Given the description of an element on the screen output the (x, y) to click on. 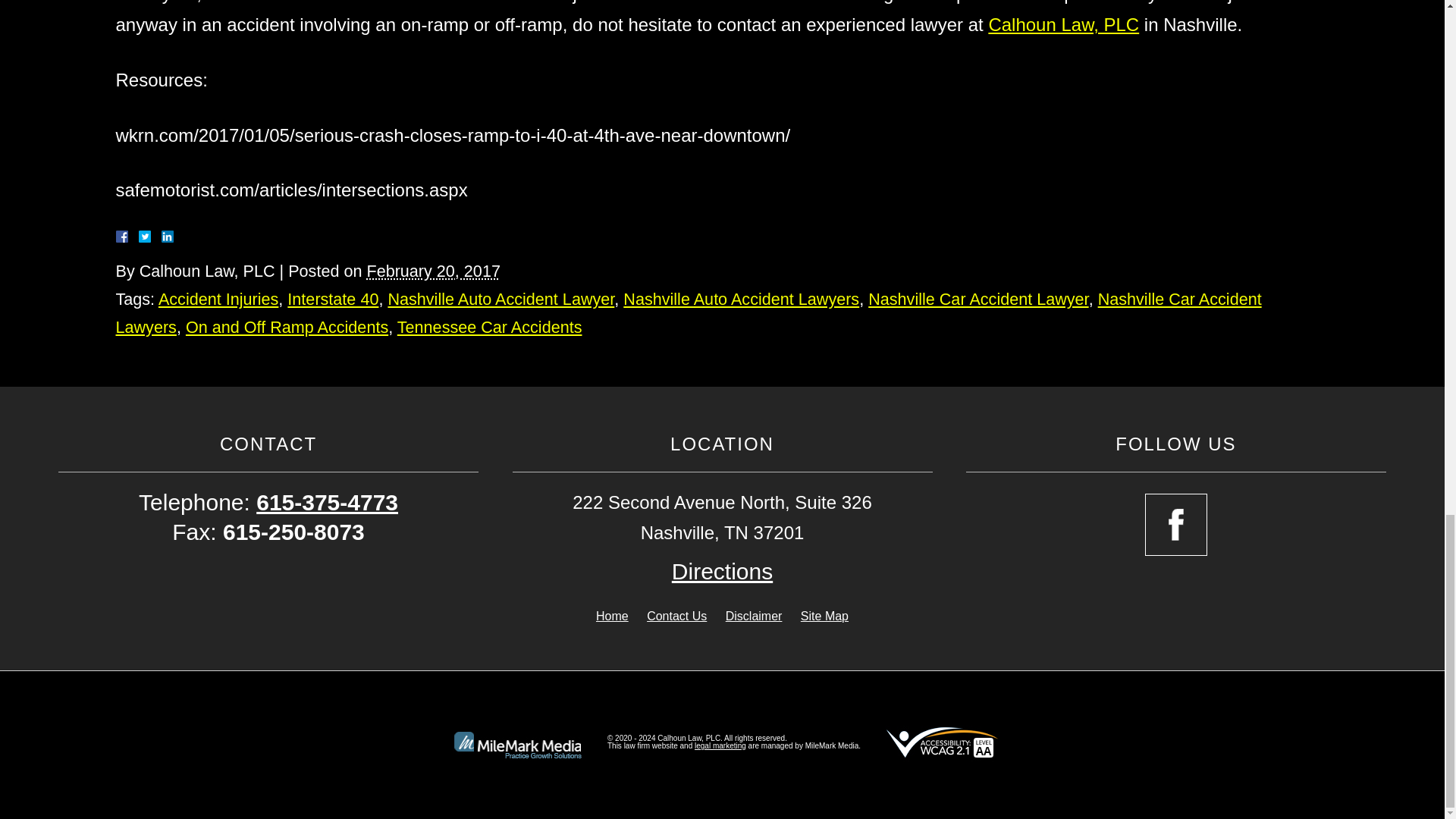
Open Google Map in a New Window (722, 571)
Open Facebook in a New Window (1175, 524)
Open MileMarkMedia.com in a New Window (719, 746)
2017-02-20T06:00:57-0800 (432, 270)
